Given the description of an element on the screen output the (x, y) to click on. 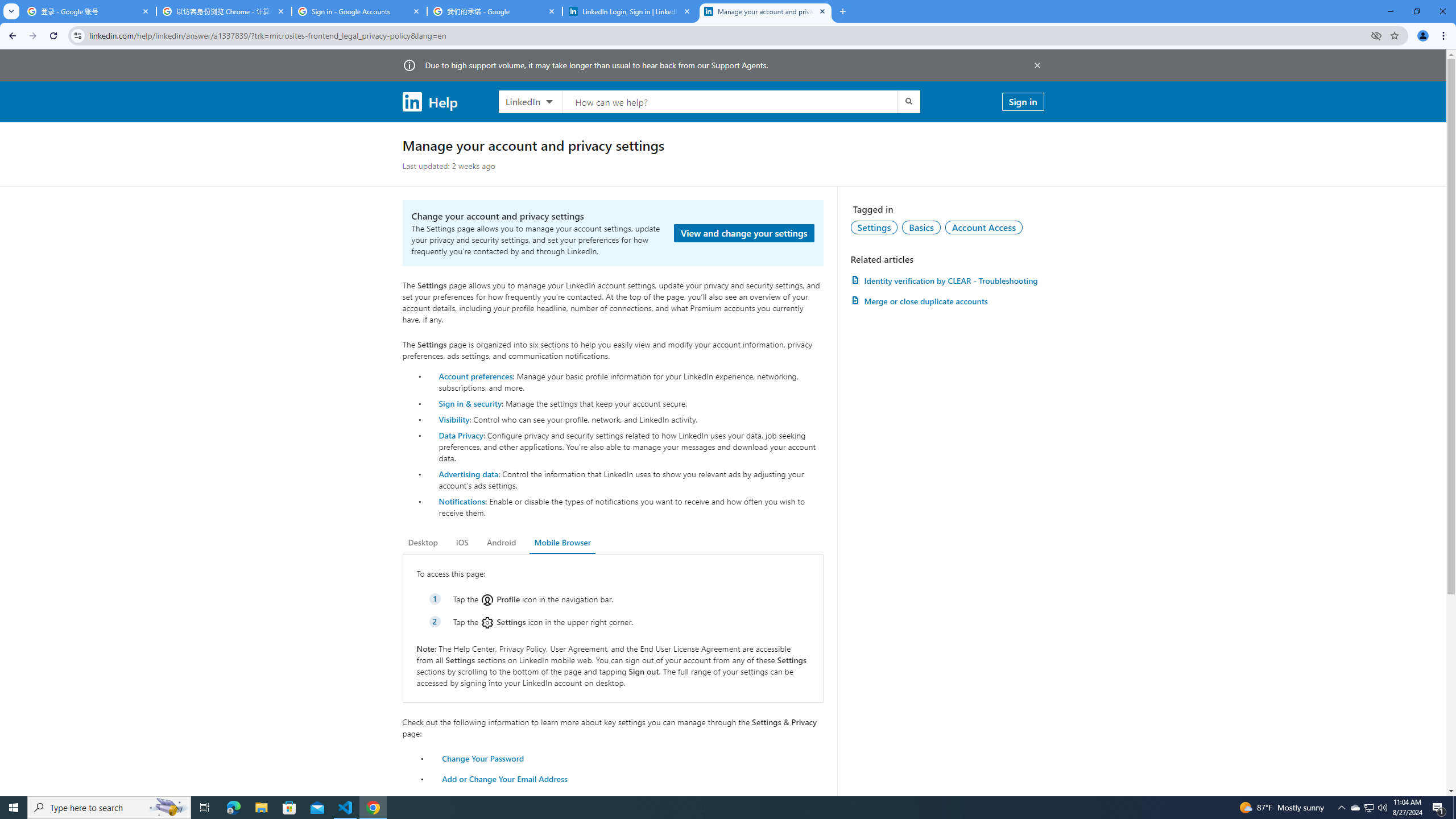
Sign in - Google Accounts (359, 11)
Add and Remove Mobile Phone Numbers (517, 799)
Account preferences (475, 375)
AutomationID: topic-link-a51 (921, 227)
Android (501, 542)
Sign in & security (470, 402)
AutomationID: article-link-a1457505 (946, 280)
Account Access (983, 227)
Advertising data (468, 473)
Basics (921, 227)
